Given the description of an element on the screen output the (x, y) to click on. 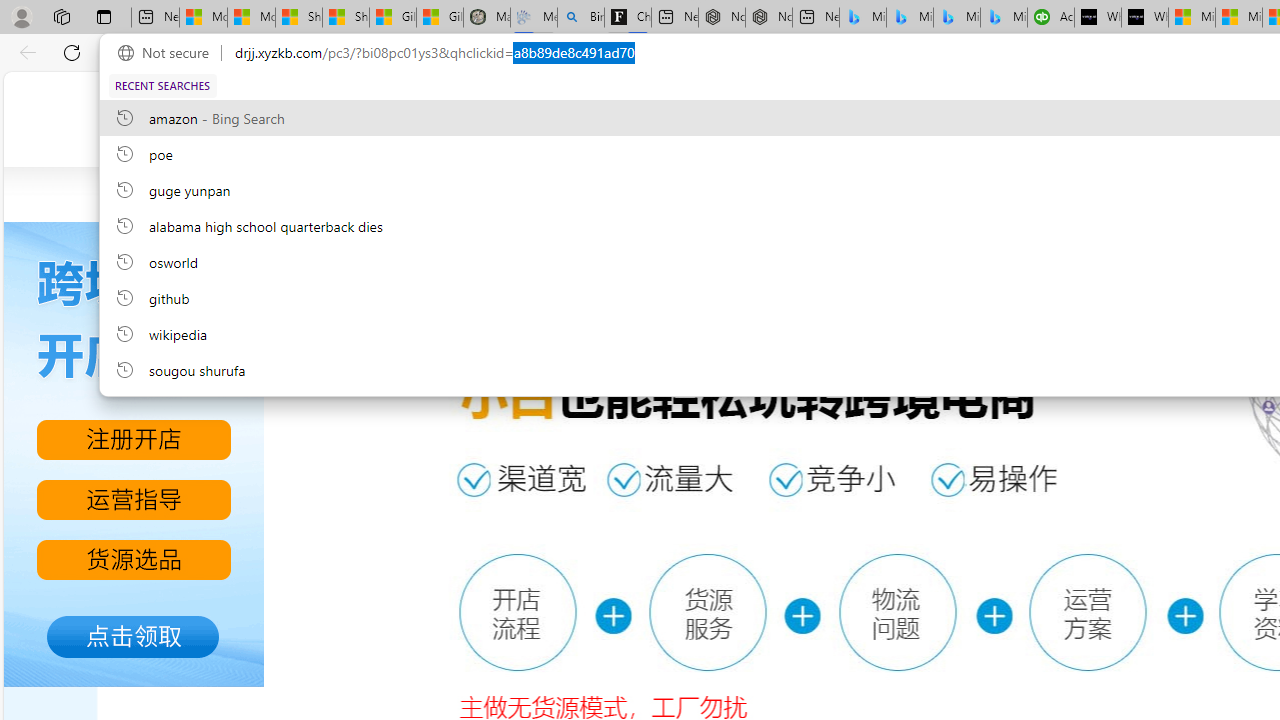
Bing Real Estate - Home sales and rental listings (581, 17)
